Given the description of an element on the screen output the (x, y) to click on. 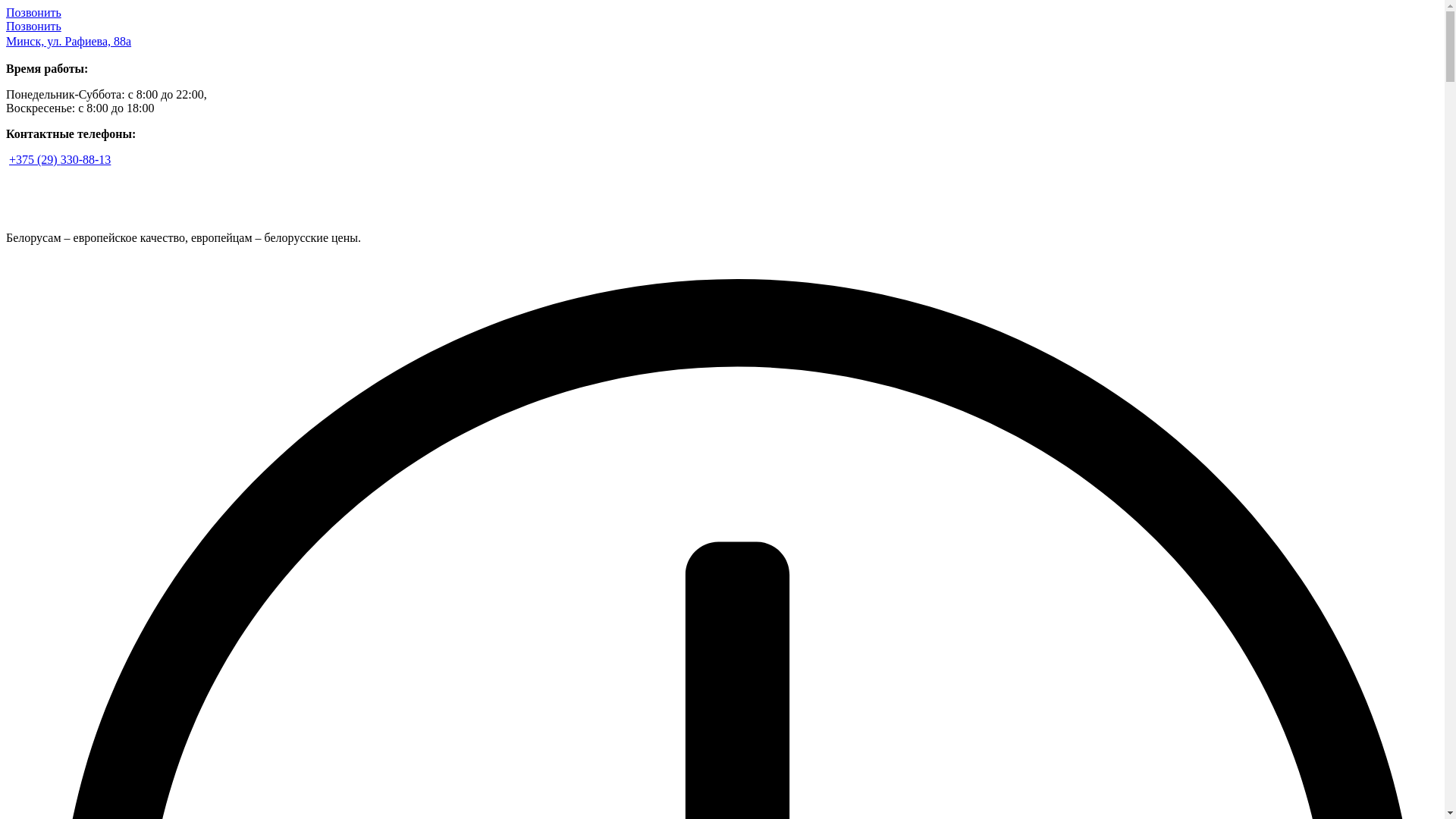
+375 (29) 330-88-13 Element type: text (59, 159)
